Given the description of an element on the screen output the (x, y) to click on. 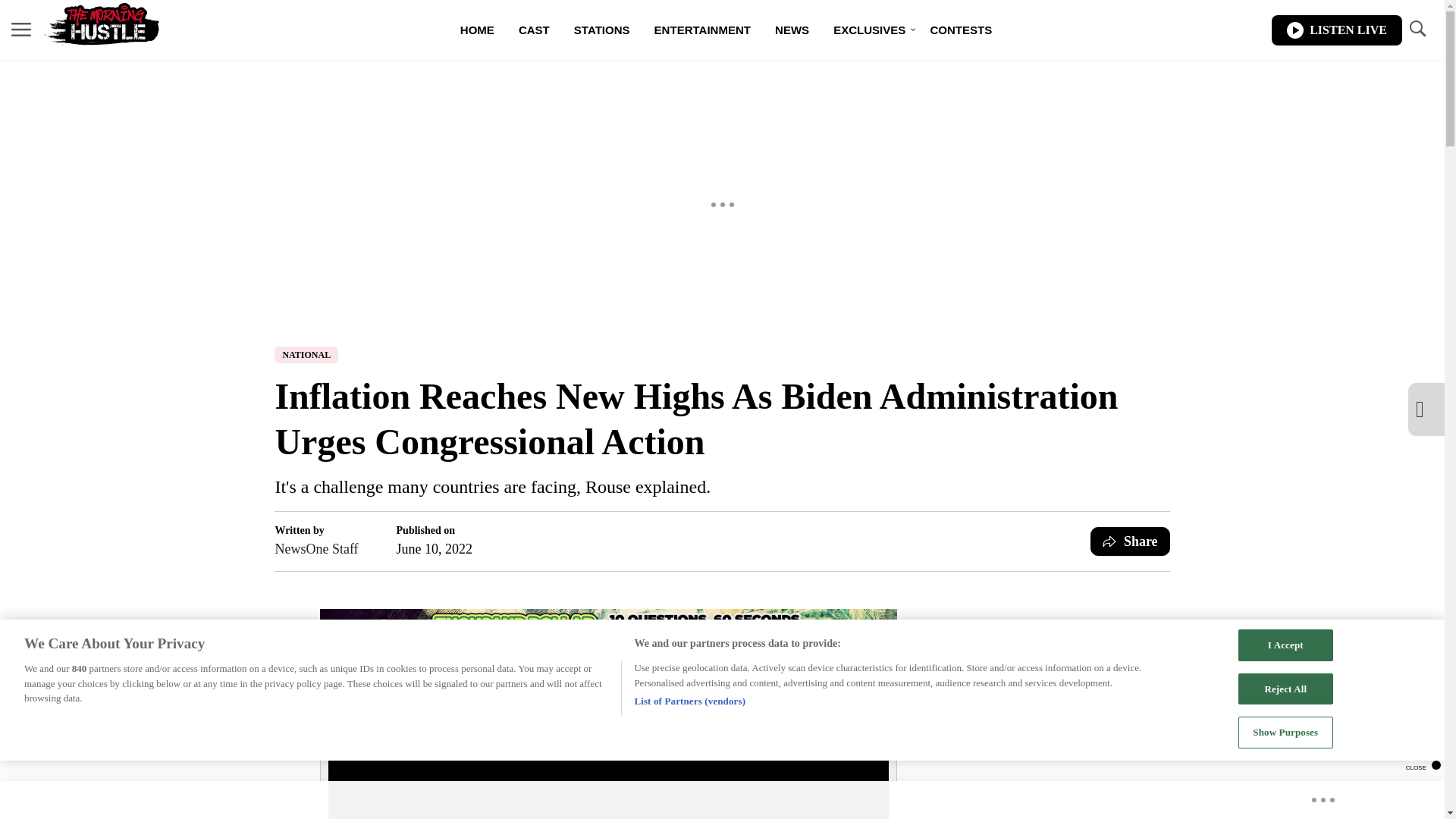
EXCLUSIVES (869, 30)
STATIONS (602, 30)
NewsOne Staff (316, 548)
MENU (20, 29)
HOME (477, 30)
CAST (534, 30)
LISTEN LIVE (1336, 30)
MENU (20, 30)
ENTERTAINMENT (702, 30)
TOGGLE SEARCH (1417, 28)
CONTESTS (960, 30)
NEWS (791, 30)
NATIONAL (306, 354)
TOGGLE SEARCH (1417, 30)
